Given the description of an element on the screen output the (x, y) to click on. 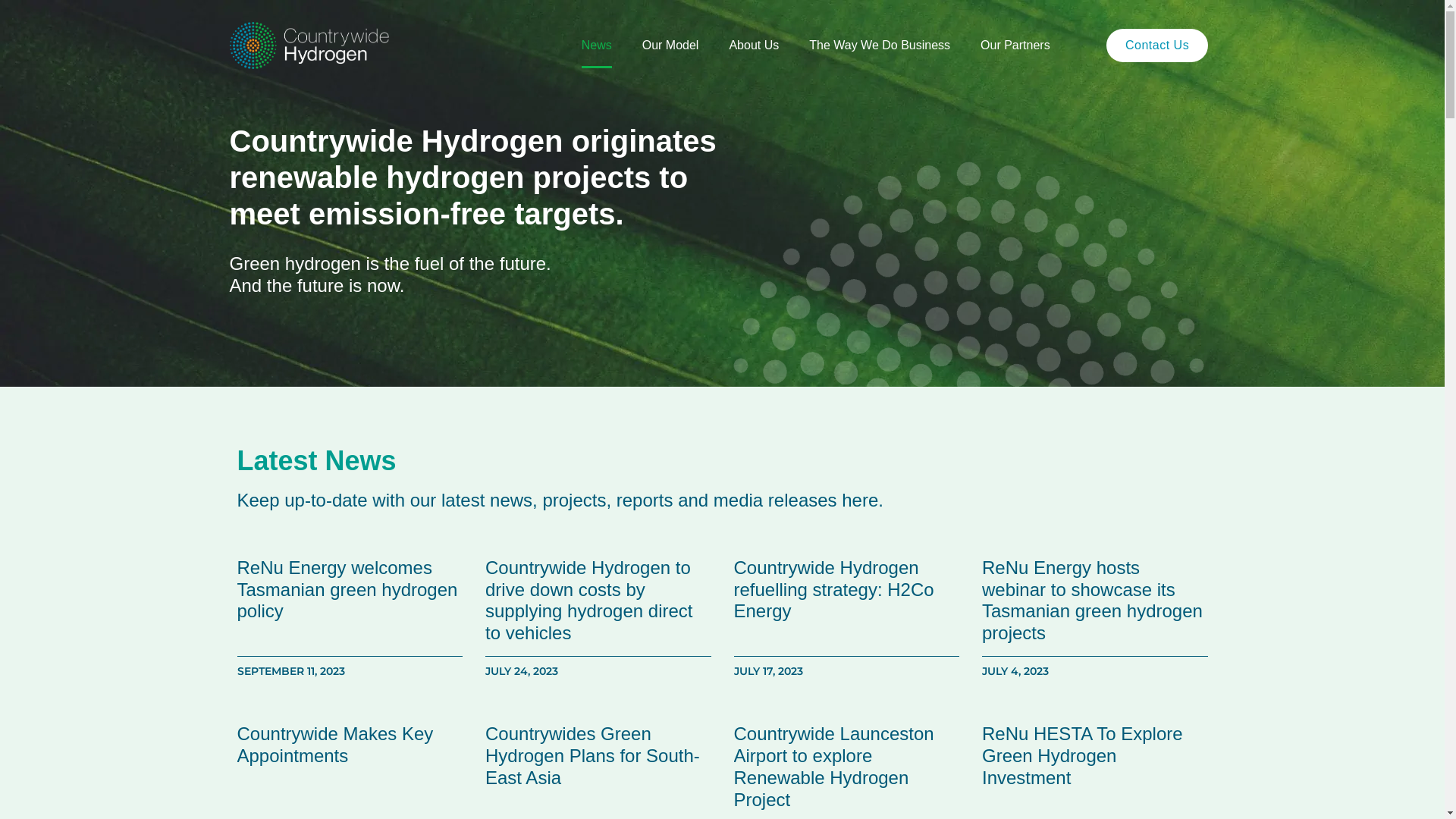
Countrywide Makes Key Appointments Element type: text (334, 744)
ReNu Energy welcomes Tasmanian green hydrogen policy Element type: text (346, 589)
The Way We Do Business Element type: text (879, 45)
Countrywide Hydrogen refuelling strategy: H2Co Energy Element type: text (834, 589)
About Us Element type: text (753, 45)
Our Model Element type: text (670, 45)
Our Partners Element type: text (1015, 45)
Contact Us Element type: text (1157, 45)
Countrywides Green Hydrogen Plans for South-East Asia Element type: text (592, 755)
News Element type: text (596, 45)
ReNu HESTA To Explore Green Hydrogen Investment Element type: text (1082, 755)
